Given the description of an element on the screen output the (x, y) to click on. 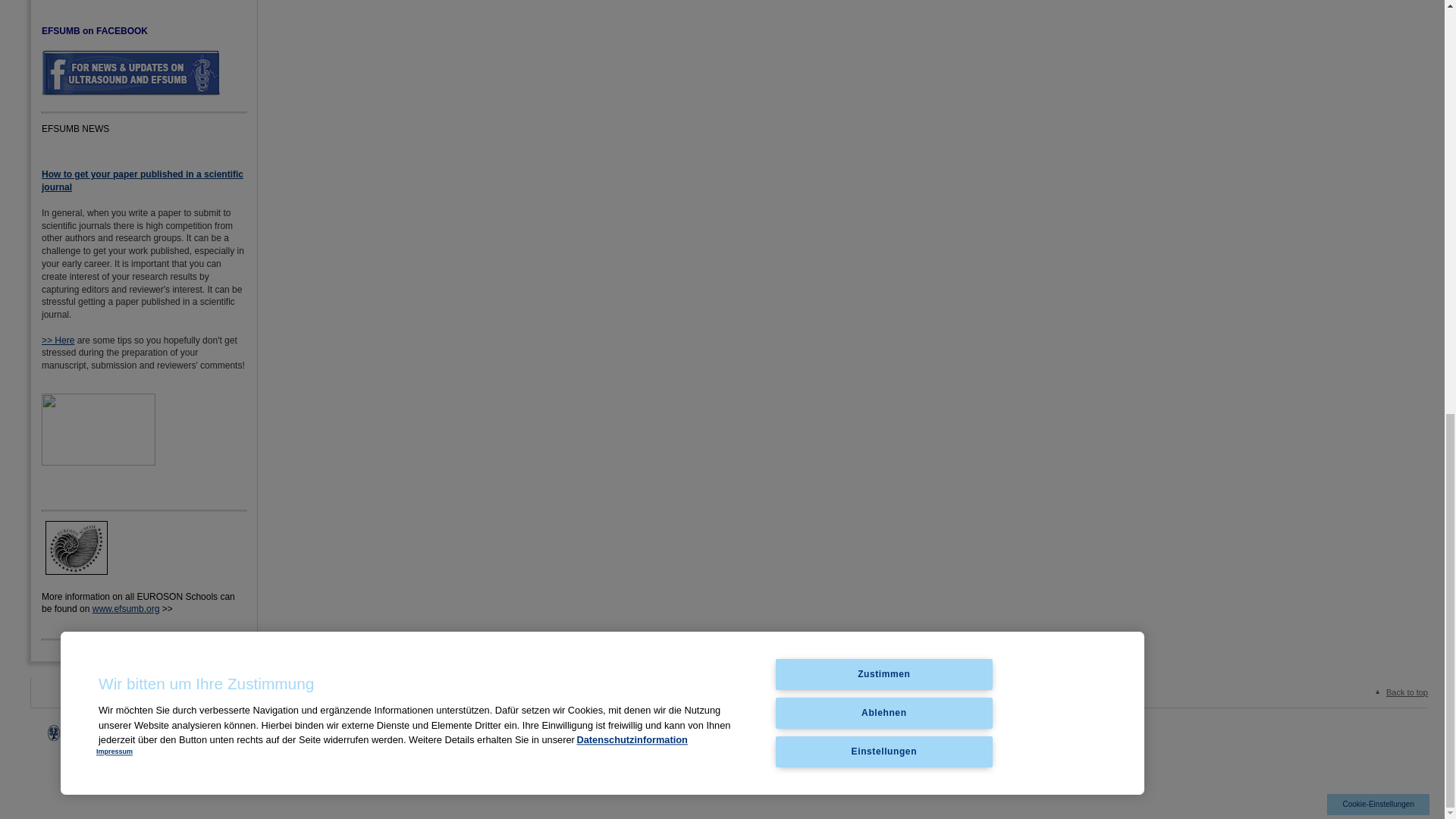
How to get your paper published in a scientific journal (142, 180)
www.efsumb.org (126, 608)
Back to top (1399, 691)
